Given the description of an element on the screen output the (x, y) to click on. 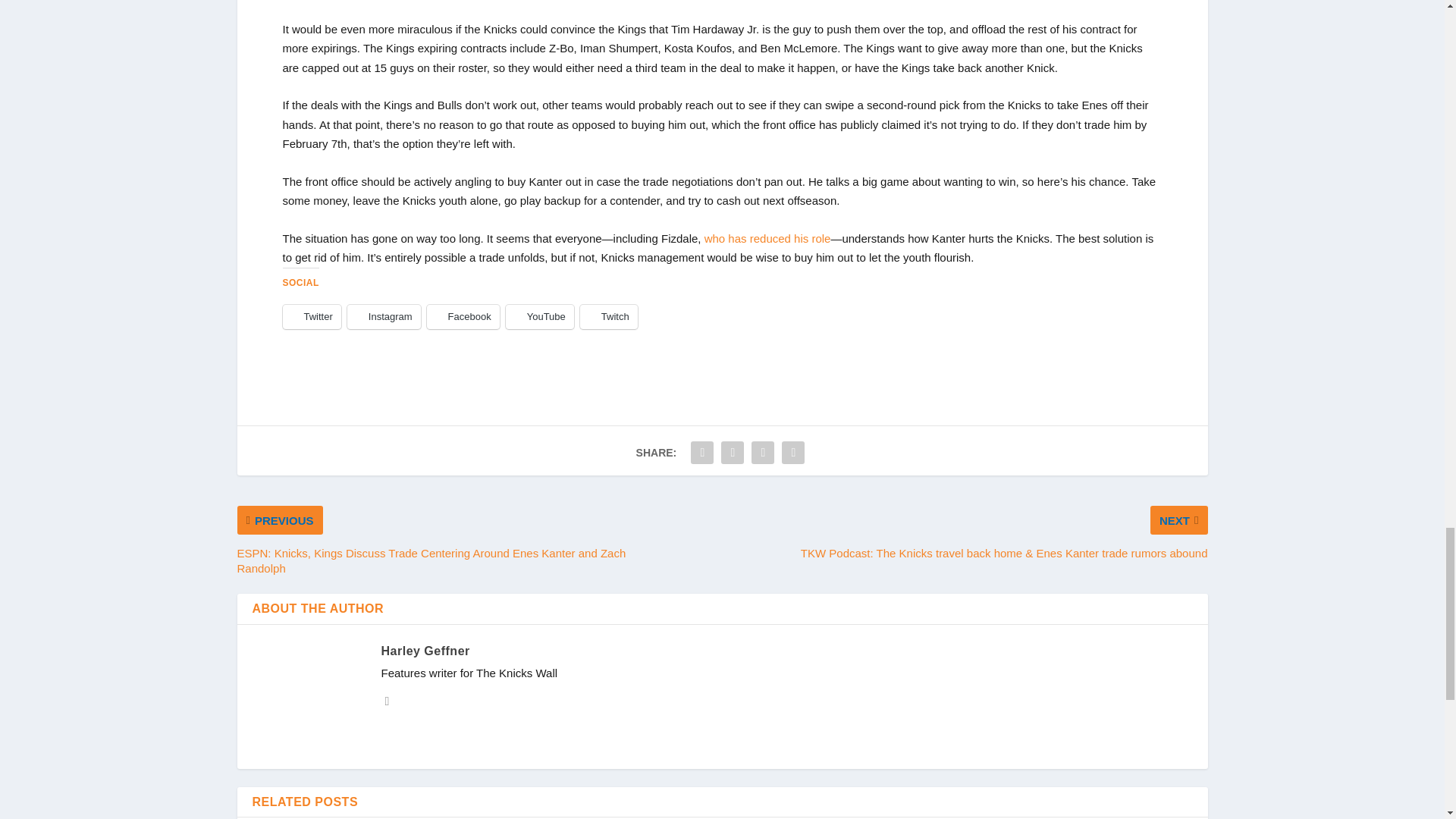
Click to share on Facebook (462, 316)
Click to share on Instagram (383, 316)
Click to share on Twitch (608, 316)
Click to share on YouTube (539, 316)
Click to share on Twitter (311, 316)
